Given the description of an element on the screen output the (x, y) to click on. 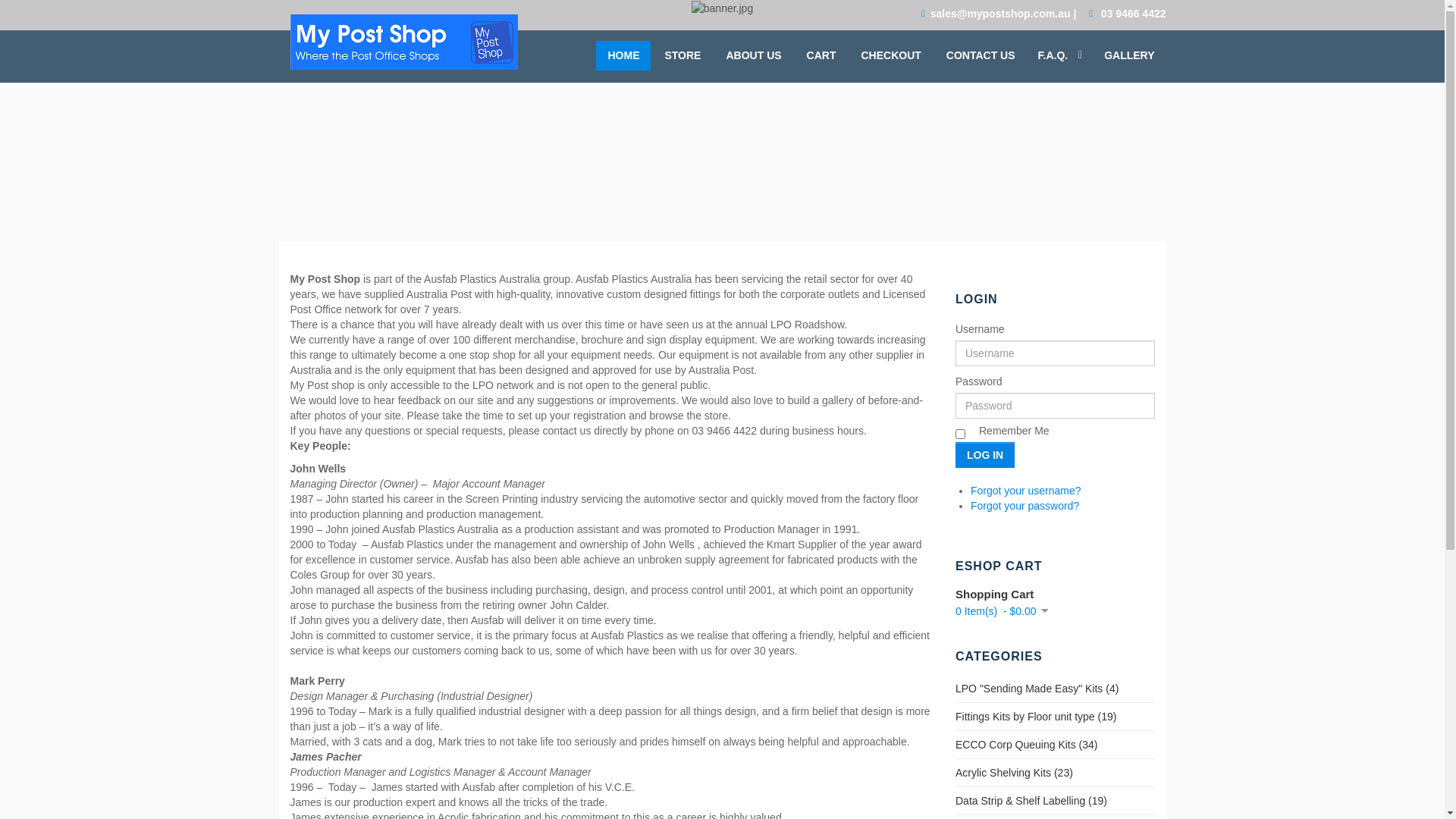
CART Element type: text (821, 55)
STORE Element type: text (682, 55)
LOG IN Element type: text (984, 454)
Data Strip & Shelf Labelling (19) Element type: text (1031, 800)
0 Item(s)  - $0.00 Element type: text (1001, 611)
ABOUT US Element type: text (753, 55)
F.A.Q. Element type: text (1060, 55)
ECCO Corp Queuing Kits (34) Element type: text (1026, 744)
LPO "Sending Made Easy" Kits (4) Element type: text (1036, 688)
HOME Element type: text (623, 55)
Fittings Kits by Floor unit type (19) Element type: text (1035, 716)
CHECKOUT Element type: text (890, 55)
Acrylic Shelving Kits (23) Element type: text (1014, 772)
GALLERY Element type: text (1128, 55)
CONTACT US Element type: text (980, 55)
Forgot your password? Element type: text (1024, 505)
Forgot your username? Element type: text (1025, 490)
MyPostShop Element type: hover (403, 41)
